Given the description of an element on the screen output the (x, y) to click on. 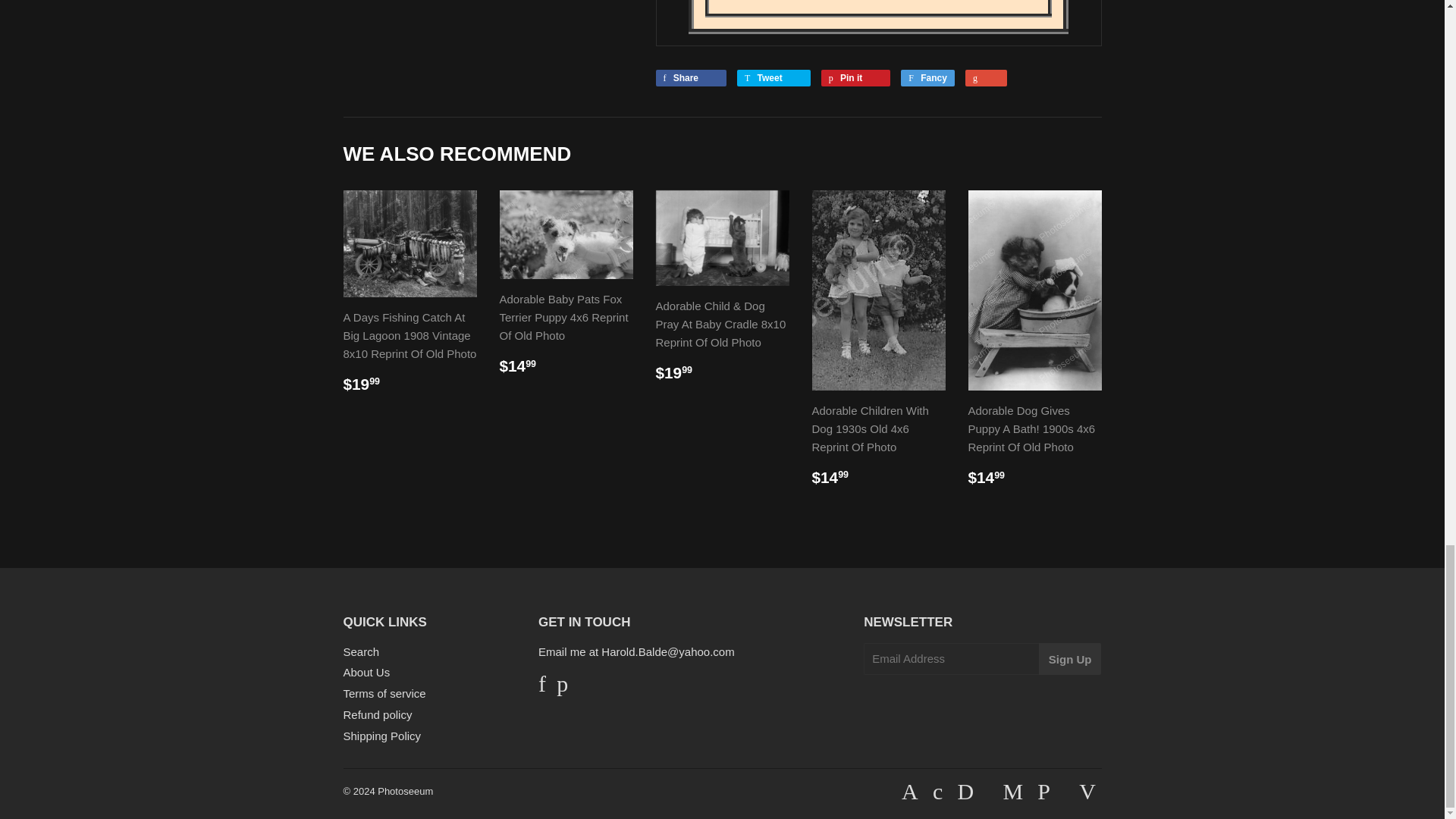
About Us (366, 671)
Photoseeum on Facebook (542, 686)
Share (690, 77)
Terms of service (383, 693)
Sign Up (1070, 658)
Fancy (928, 77)
Sign Up (1070, 658)
Refund policy (377, 714)
Photoseeum on Pinterest (561, 686)
Pin it (855, 77)
Pinterest (561, 686)
Shipping Policy (381, 735)
Tweet (773, 77)
Search (360, 651)
Facebook (542, 686)
